Given the description of an element on the screen output the (x, y) to click on. 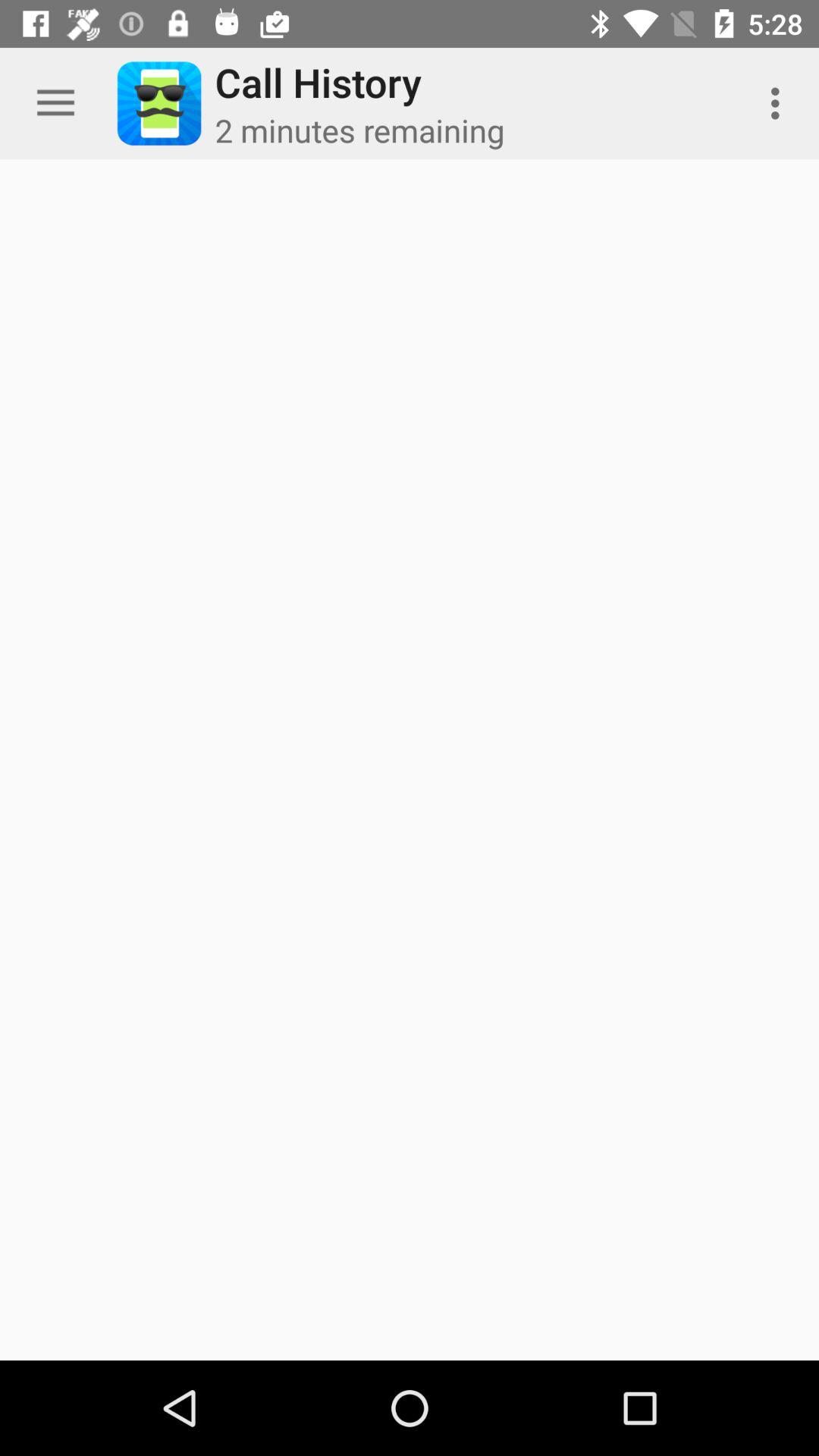
turn off the app to the right of the 2 minutes remaining app (779, 103)
